Given the description of an element on the screen output the (x, y) to click on. 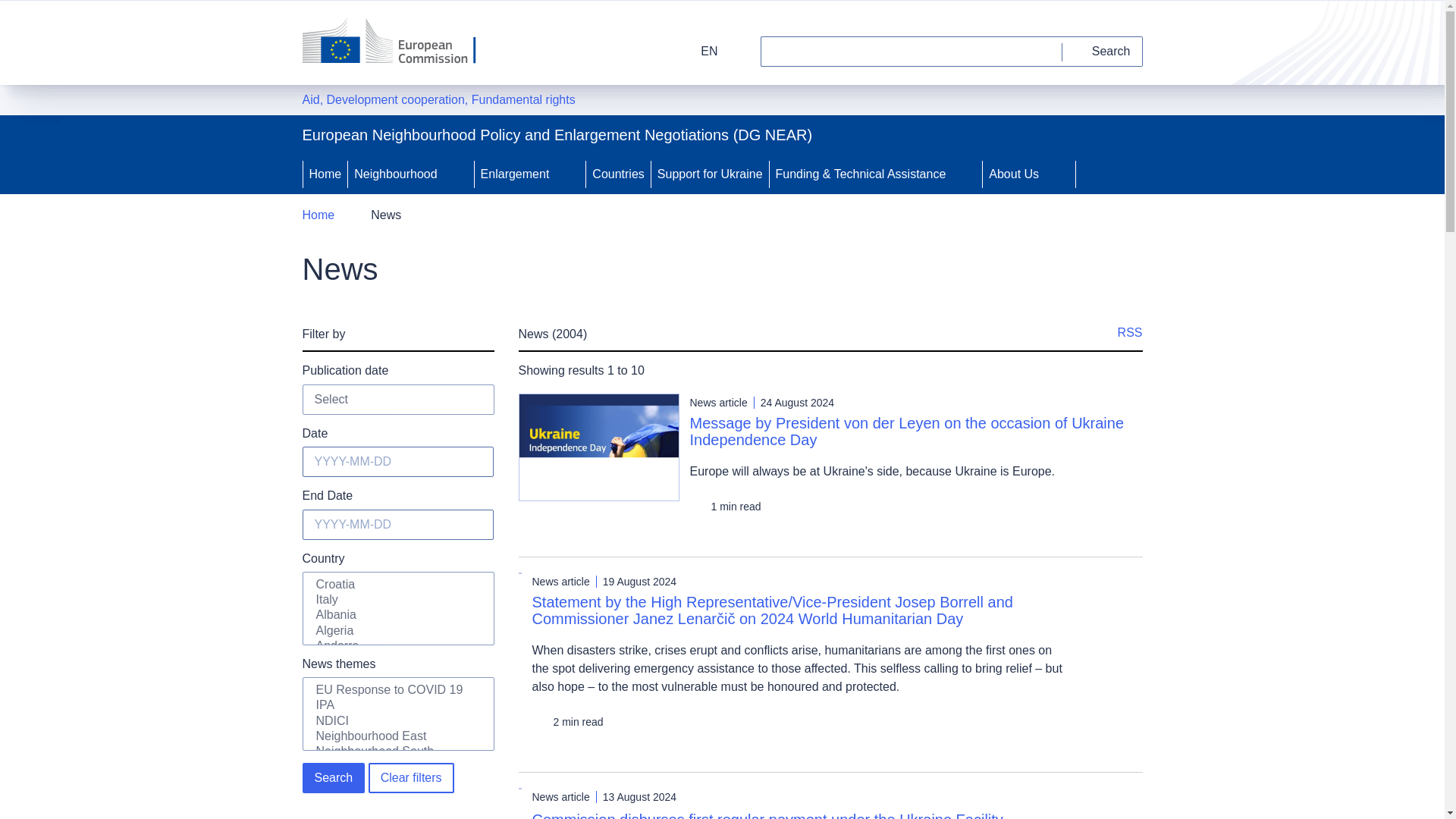
Home (324, 174)
Enlargement (513, 174)
EN (699, 51)
Neighbourhood (393, 174)
Aid, Development cooperation, Fundamental rights (438, 99)
European Commission (399, 42)
Search (1102, 51)
